Given the description of an element on the screen output the (x, y) to click on. 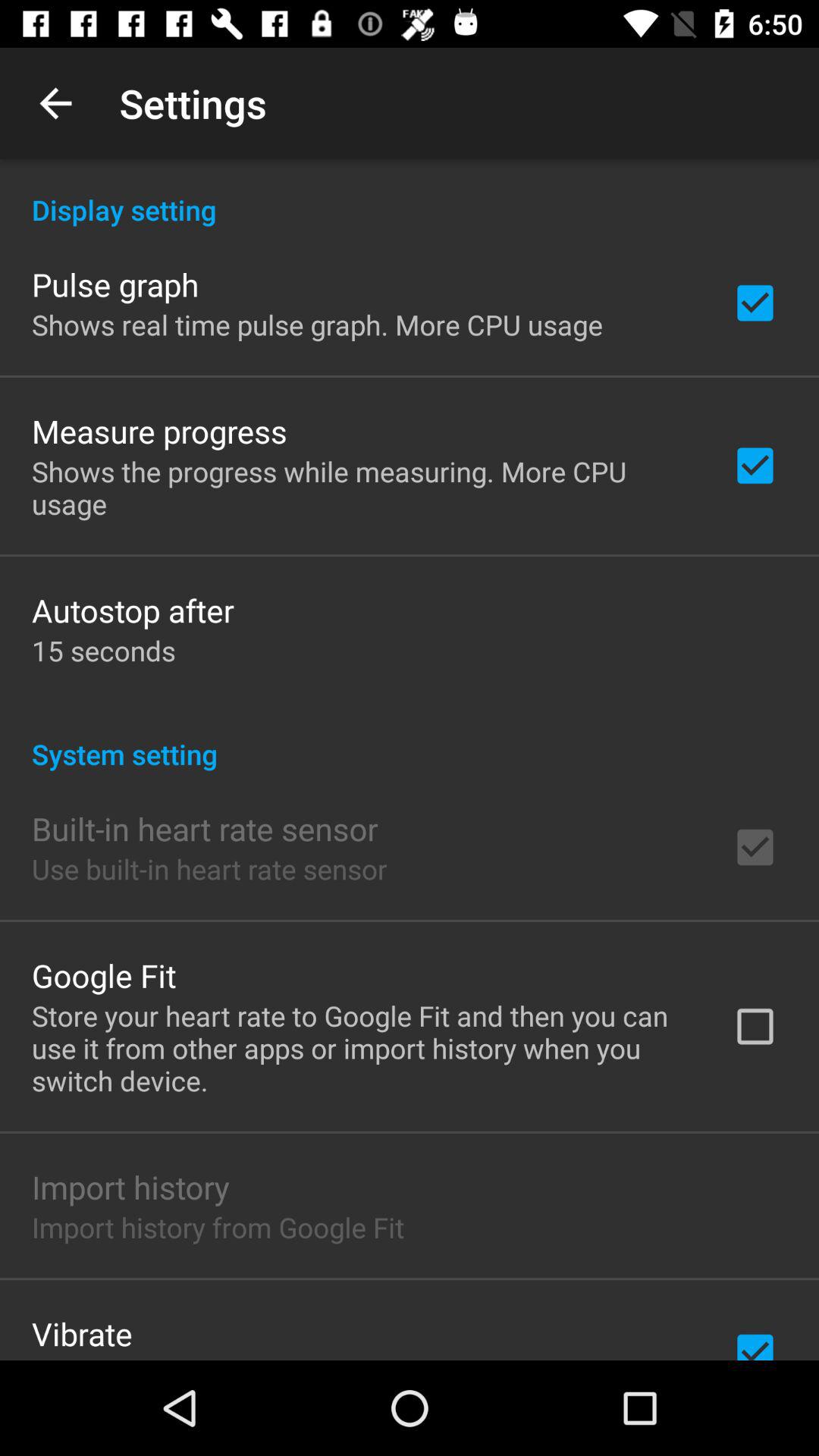
jump to measure progress icon (159, 430)
